Given the description of an element on the screen output the (x, y) to click on. 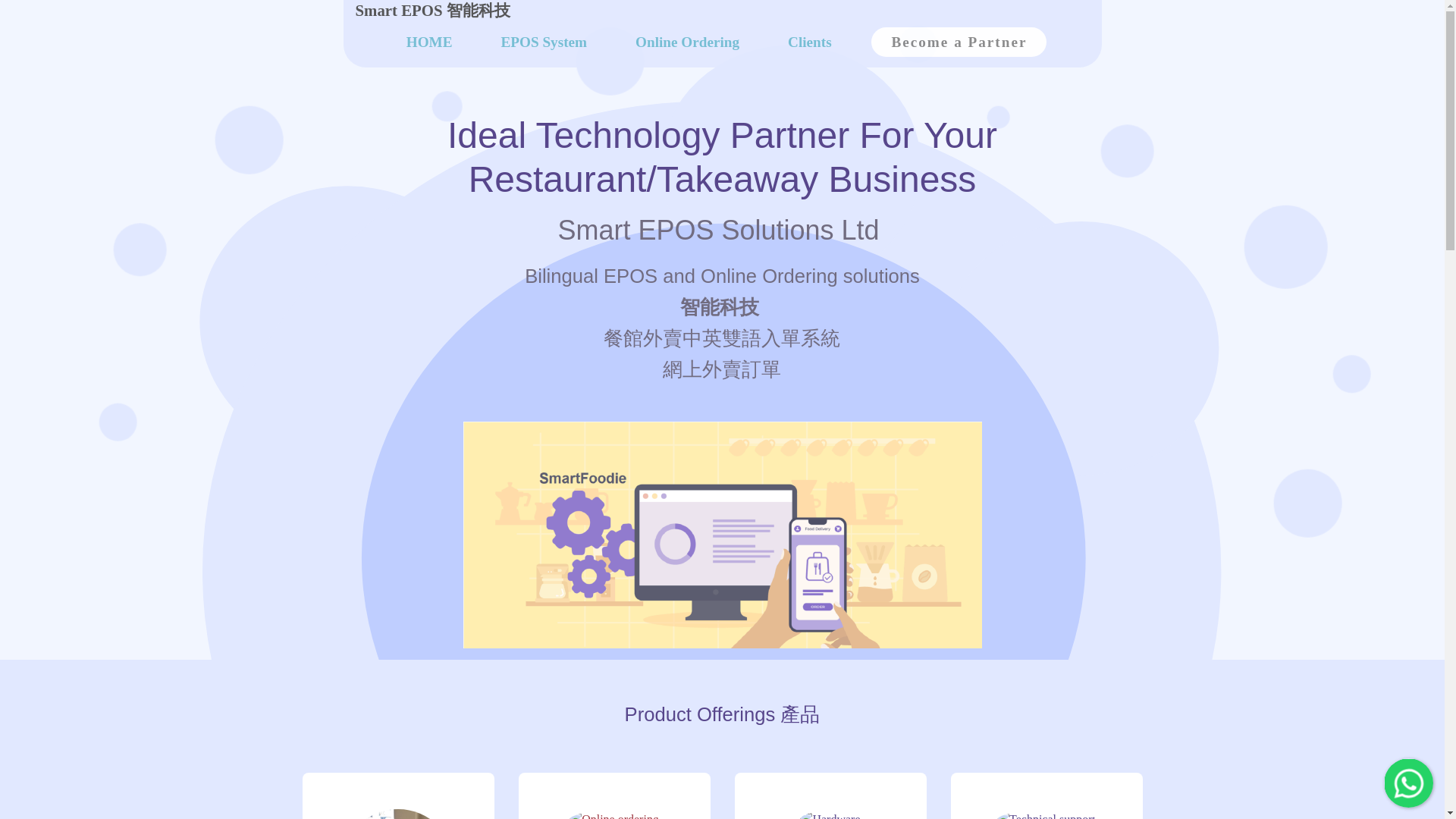
App Store (1045, 646)
Online Ordering (686, 41)
Clients (809, 41)
EPOS System (544, 41)
Become a Partner (958, 41)
HOME (429, 41)
Google Play (1163, 646)
